Given the description of an element on the screen output the (x, y) to click on. 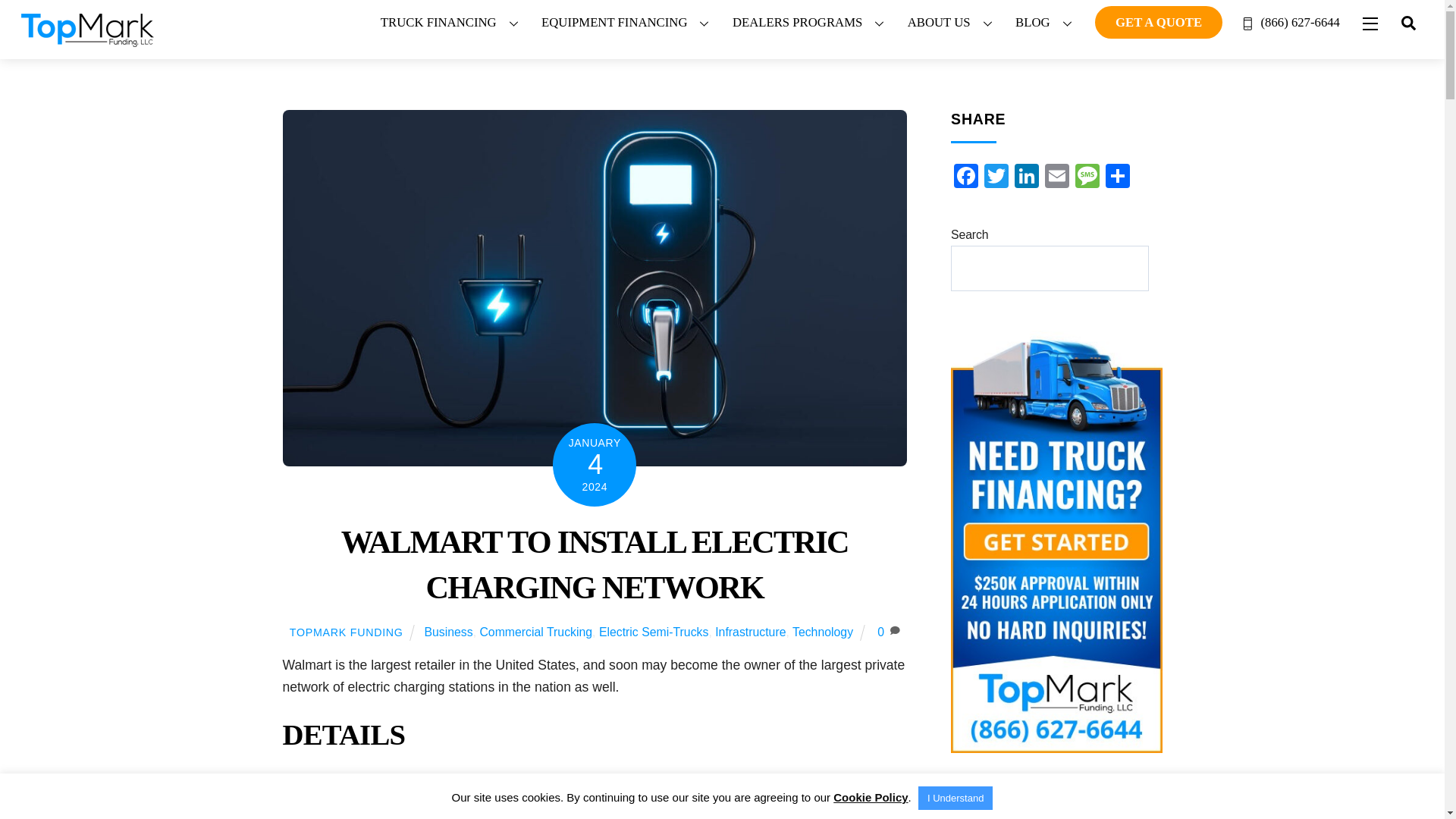
LinkedIn (1026, 177)
SEARCH (1408, 21)
Twitter (996, 177)
TRUCK FINANCING (451, 22)
Message (1086, 177)
Facebook (965, 177)
TopMark Funding (87, 40)
Email (1056, 177)
